Given the description of an element on the screen output the (x, y) to click on. 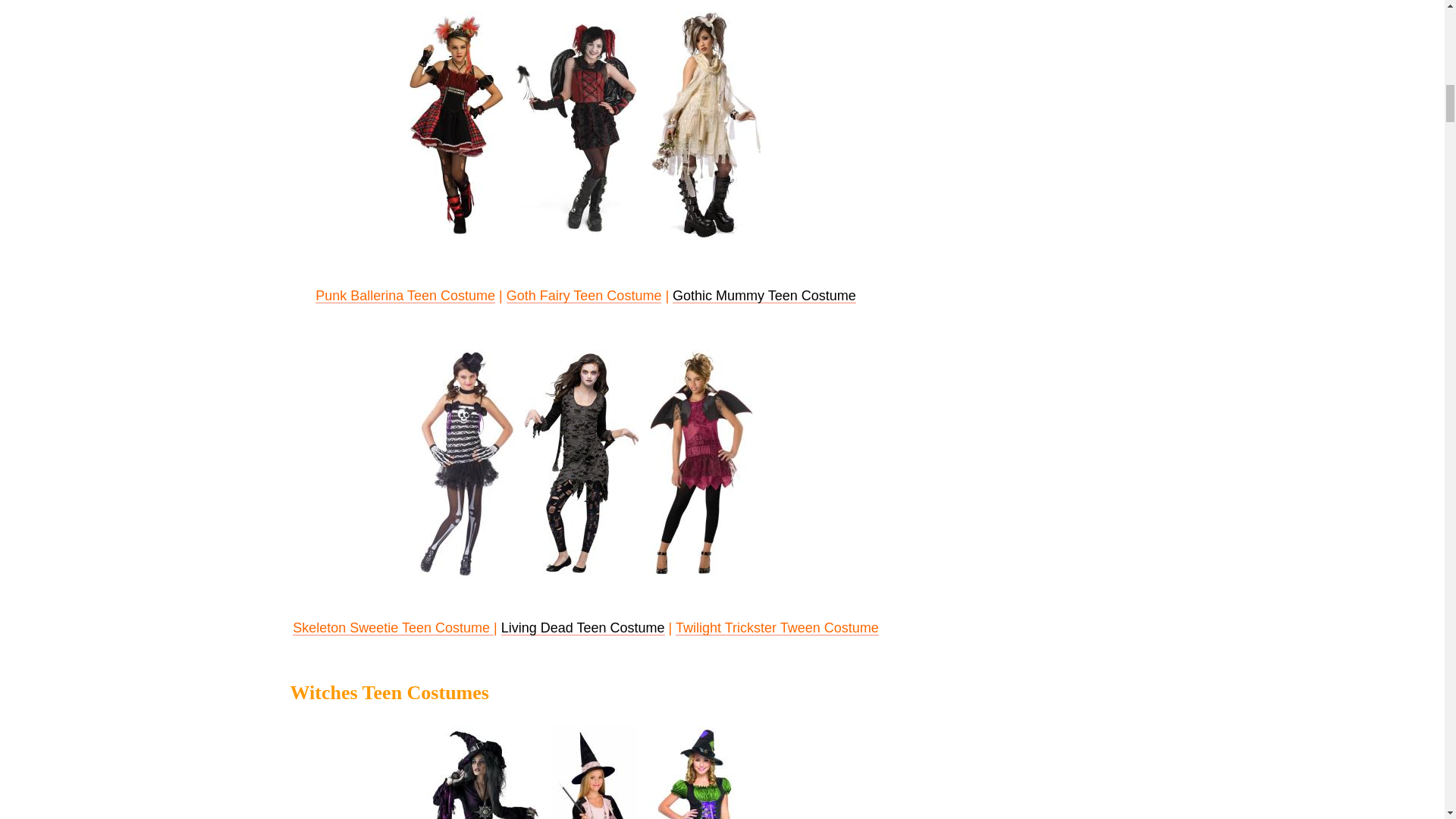
Living Dead Teen Costumes (581, 463)
Hocus Pocus Witch Teen Costumes (696, 772)
Skeleton Sweetie Teen Costumes (467, 463)
Punk Ballerina Teen Costumes (457, 125)
Twilight Trickster Tween Costumes (701, 463)
Gothic Mummy Child:Teen Costumes (706, 125)
Sorceress Teen Costumes (484, 772)
Goth Fairy Teen Costumes (576, 125)
